Given the description of an element on the screen output the (x, y) to click on. 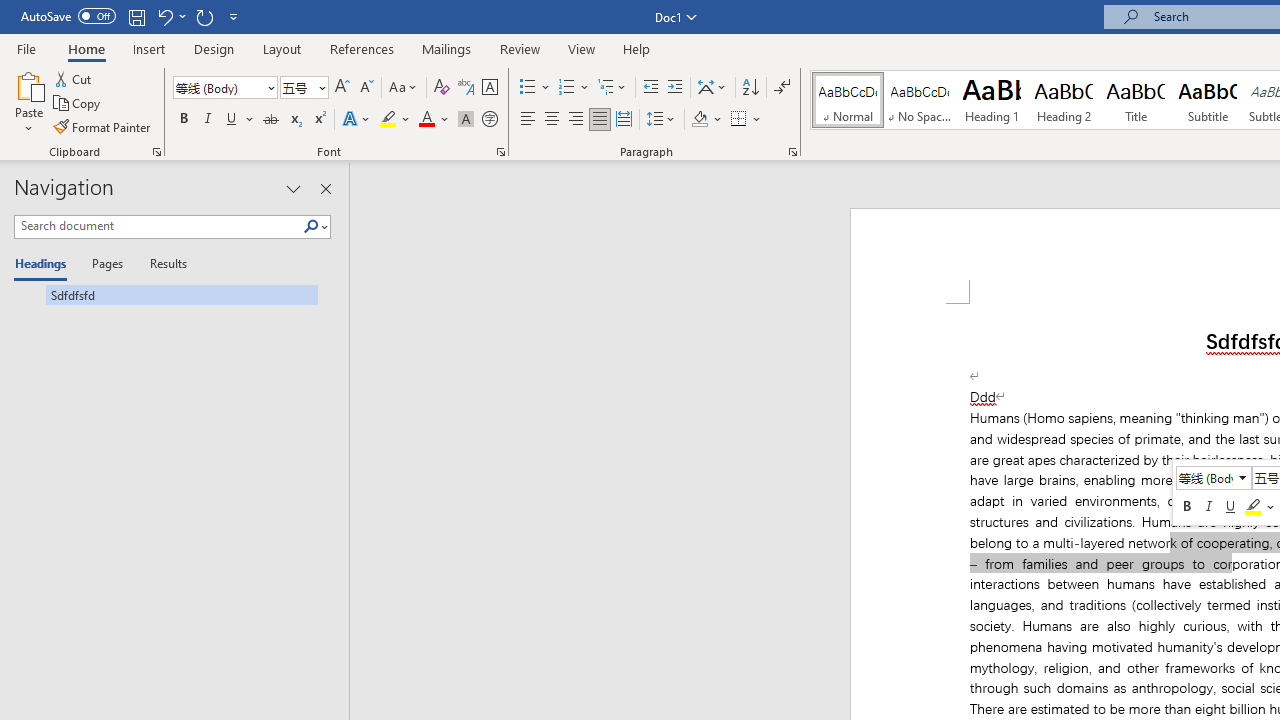
Sdfdfsfd (166, 294)
Undo  (170, 15)
